Given the description of an element on the screen output the (x, y) to click on. 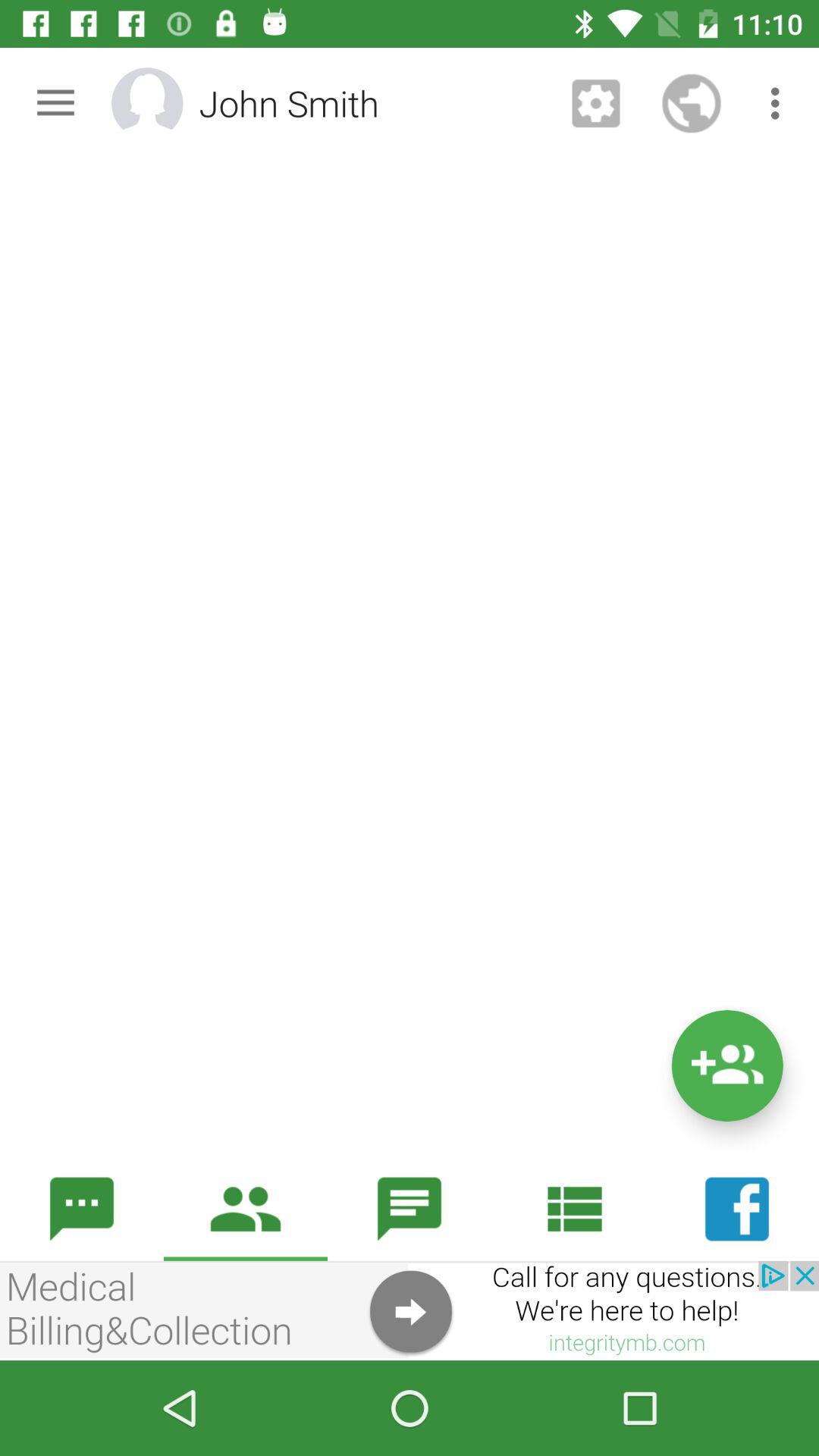
see an image (409, 1310)
